Given the description of an element on the screen output the (x, y) to click on. 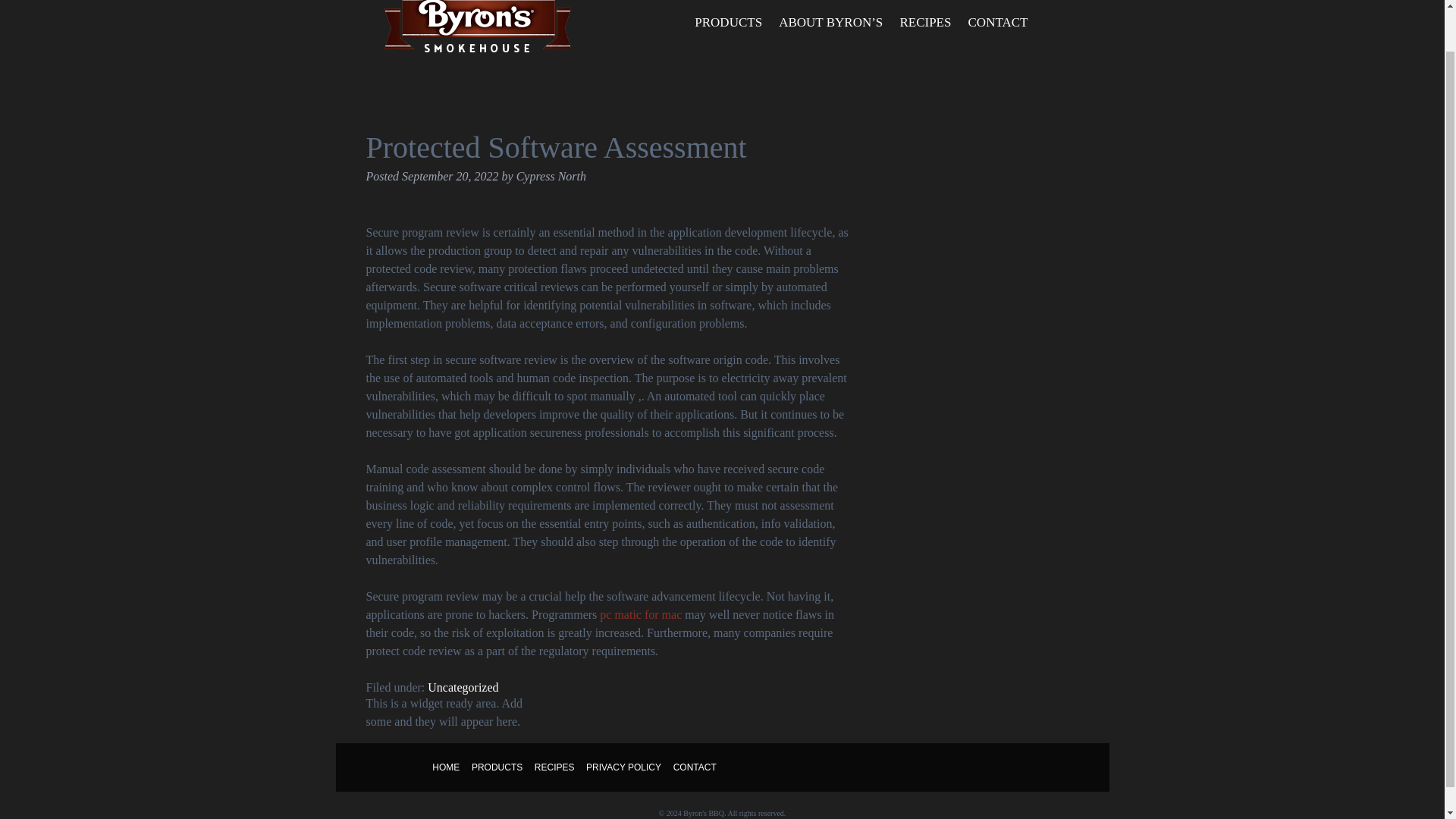
RECIPES (553, 768)
RECIPES (925, 22)
PRODUCTS (496, 768)
PRODUCTS (727, 22)
pc matic for mac (640, 614)
HOME (445, 768)
CONTACT (694, 768)
Uncategorized (462, 686)
PRIVACY POLICY (622, 768)
CONTACT (997, 22)
